Given the description of an element on the screen output the (x, y) to click on. 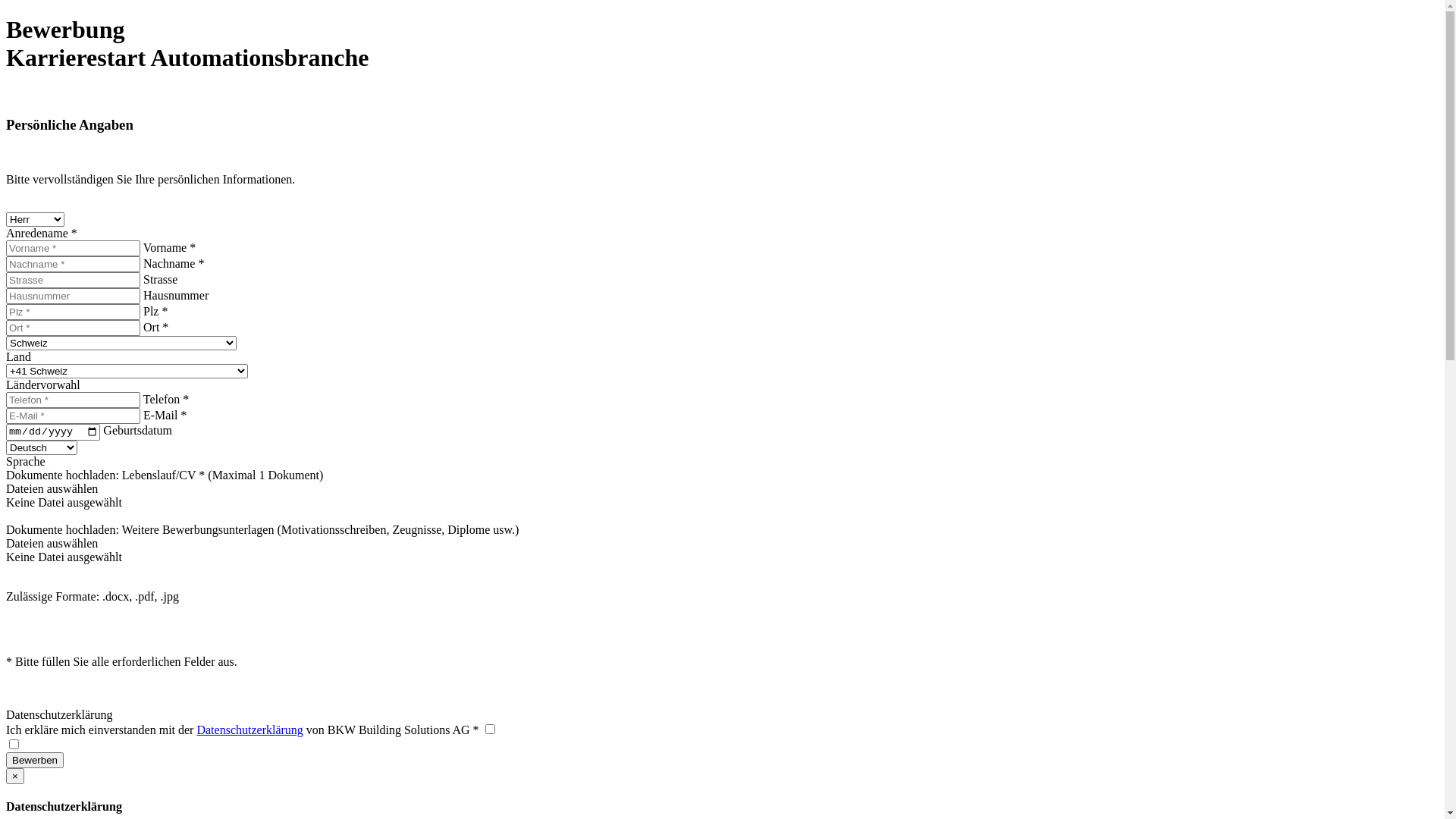
Bewerben Element type: text (34, 760)
